Given the description of an element on the screen output the (x, y) to click on. 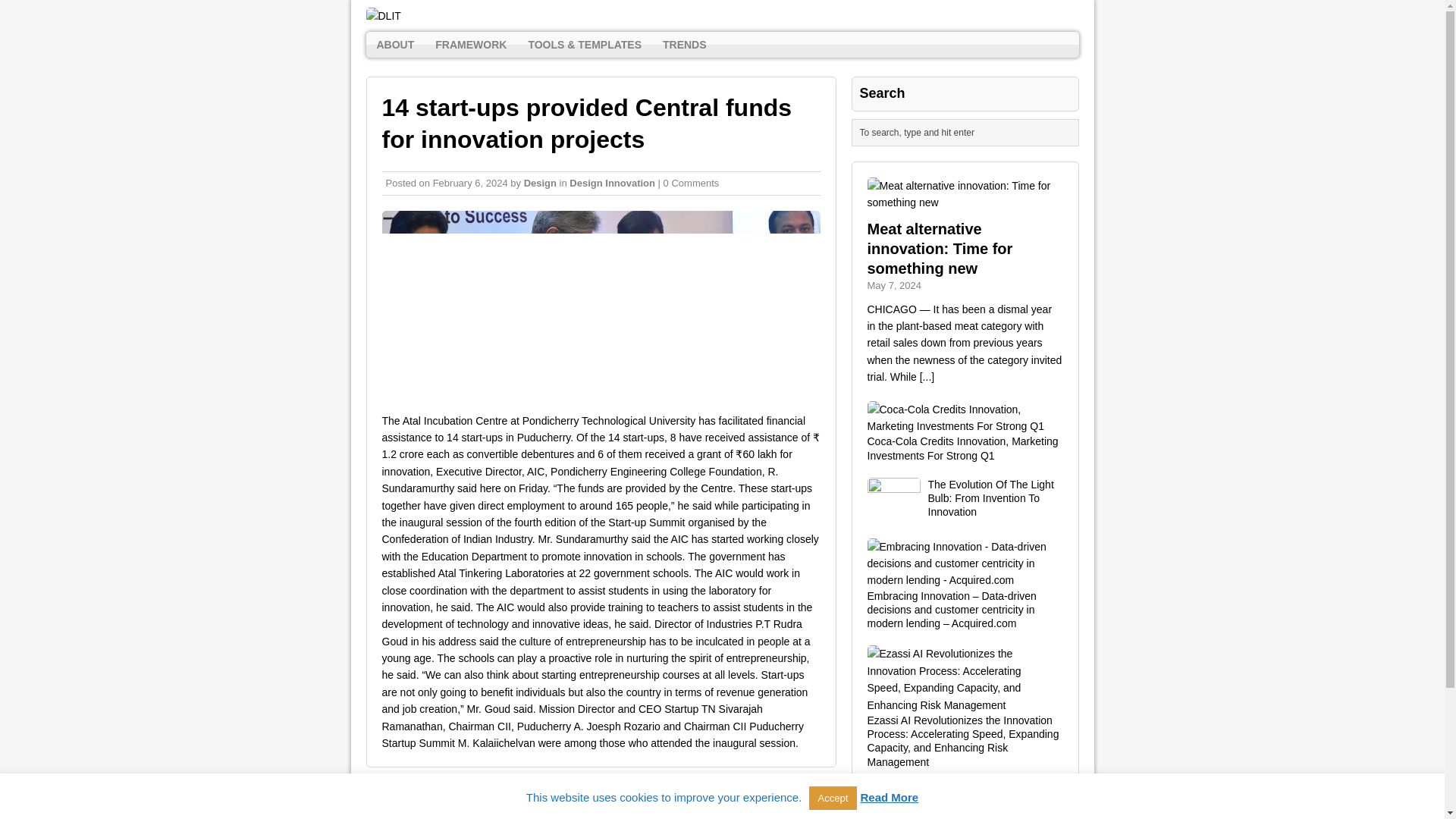
Design Innovation (612, 183)
DLIT (721, 15)
Meat alternative innovation: Time for something new (940, 248)
FRAMEWORK (470, 44)
Meat alternative innovation: Time for something new (964, 202)
